Given the description of an element on the screen output the (x, y) to click on. 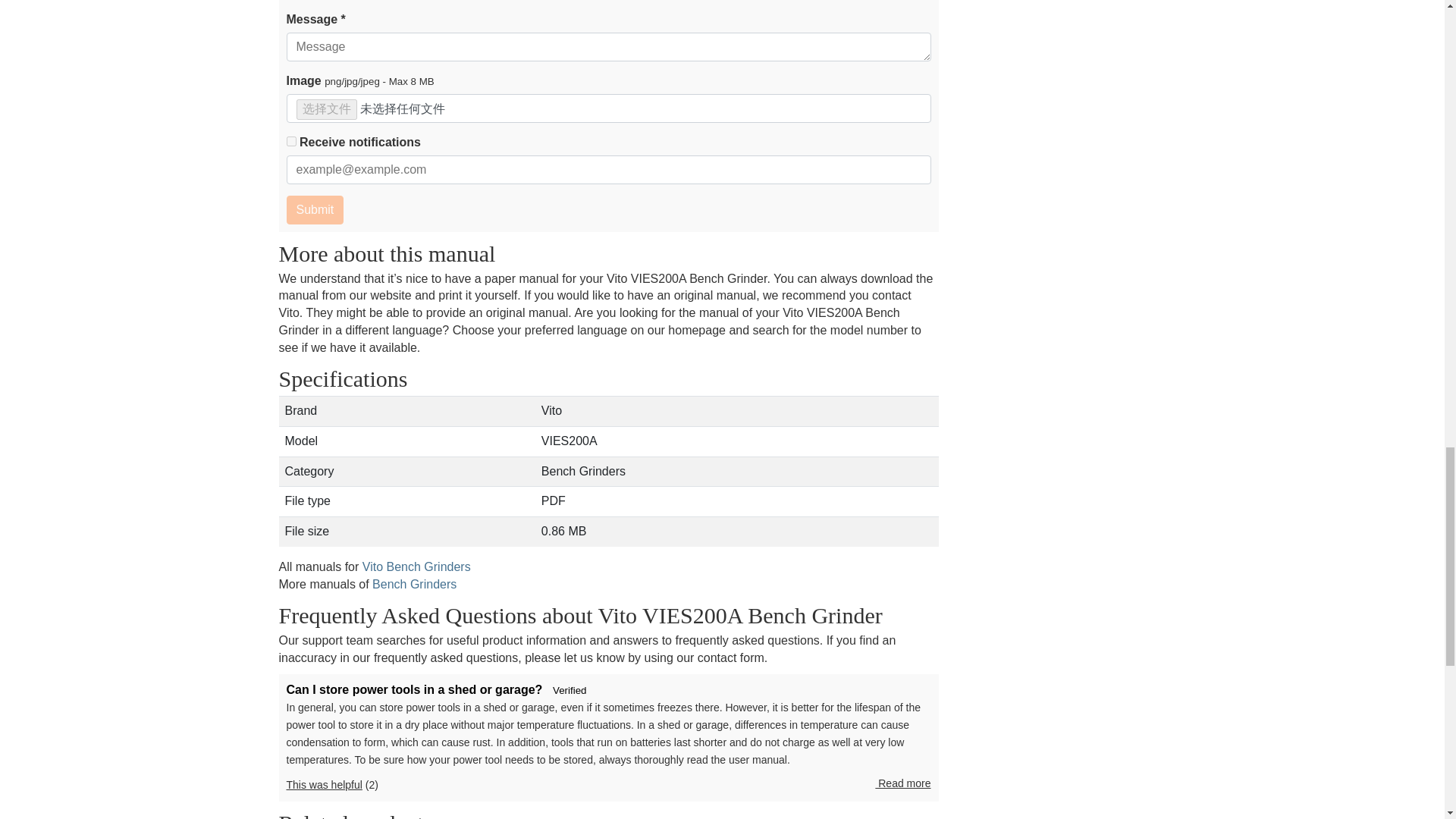
 Read more (902, 783)
Read more: Can I store power tools in a shed or garage? (902, 783)
Bench Grinders (414, 584)
Submit (314, 209)
Vito Bench Grinders (416, 566)
Bench Grinders (414, 584)
Vito Bench Grinders (416, 566)
1 (291, 141)
